Given the description of an element on the screen output the (x, y) to click on. 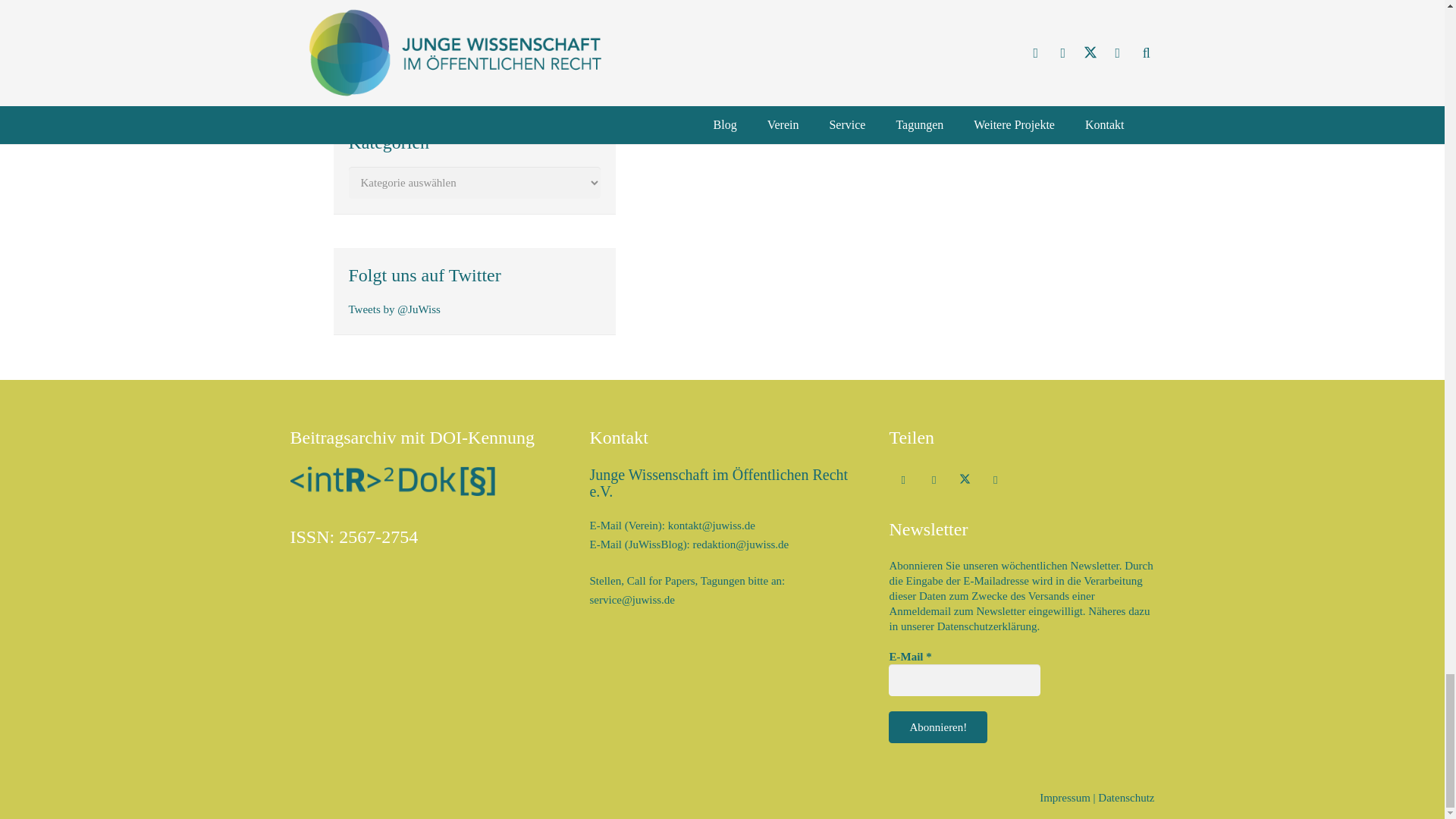
Abonnieren! (937, 726)
